Given the description of an element on the screen output the (x, y) to click on. 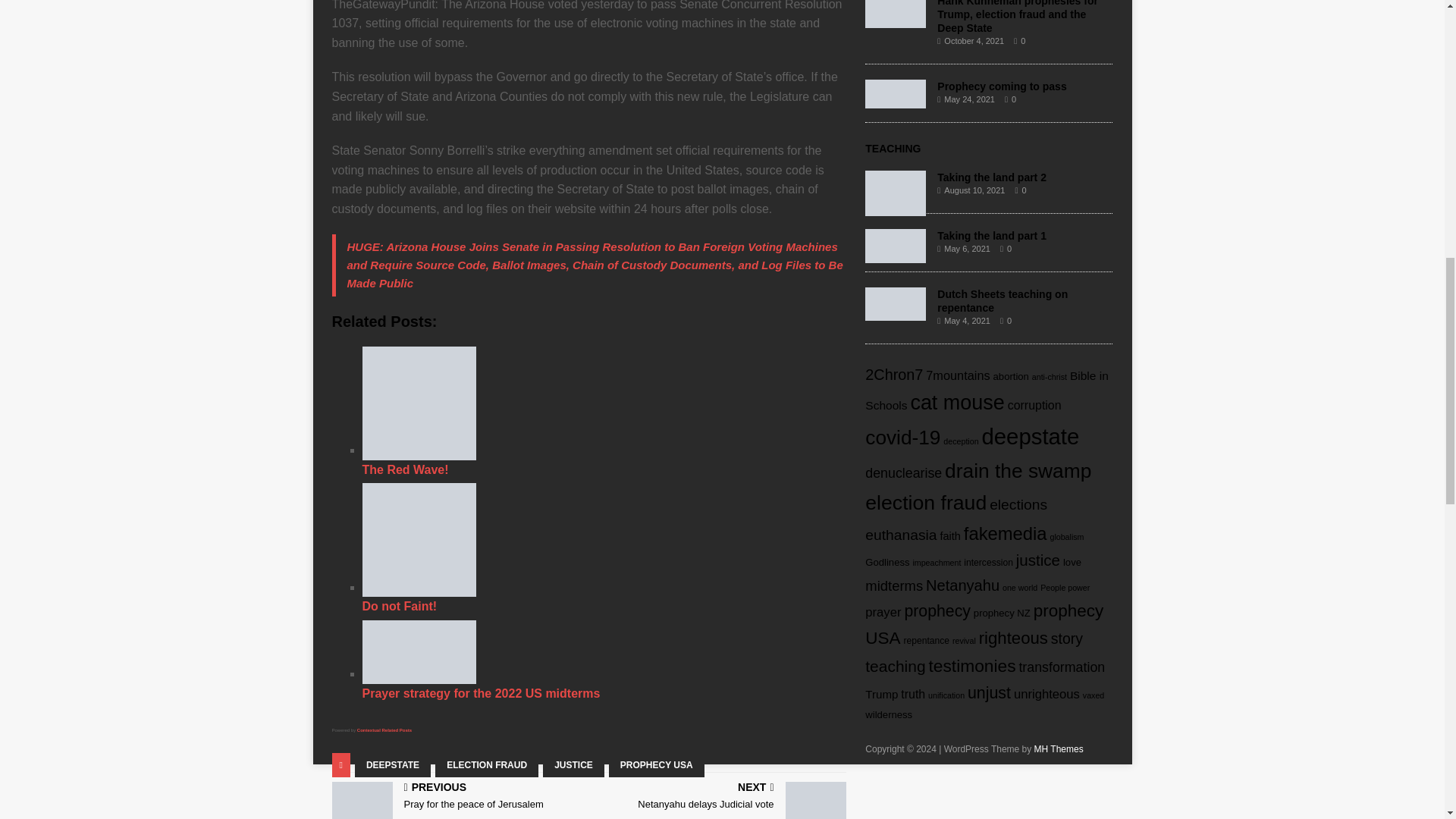
Do not Faint! (603, 547)
Prayer strategy for the 2022 US midterms (603, 659)
JUSTICE (573, 764)
Do not Faint! (419, 540)
DEEPSTATE (392, 764)
The Red Wave! (419, 403)
ELECTION FRAUD (486, 764)
PROPHECY USA (720, 797)
Contextual Related Posts (656, 764)
The Red Wave! (457, 797)
Prayer strategy for the 2022 US midterms (384, 730)
